Given the description of an element on the screen output the (x, y) to click on. 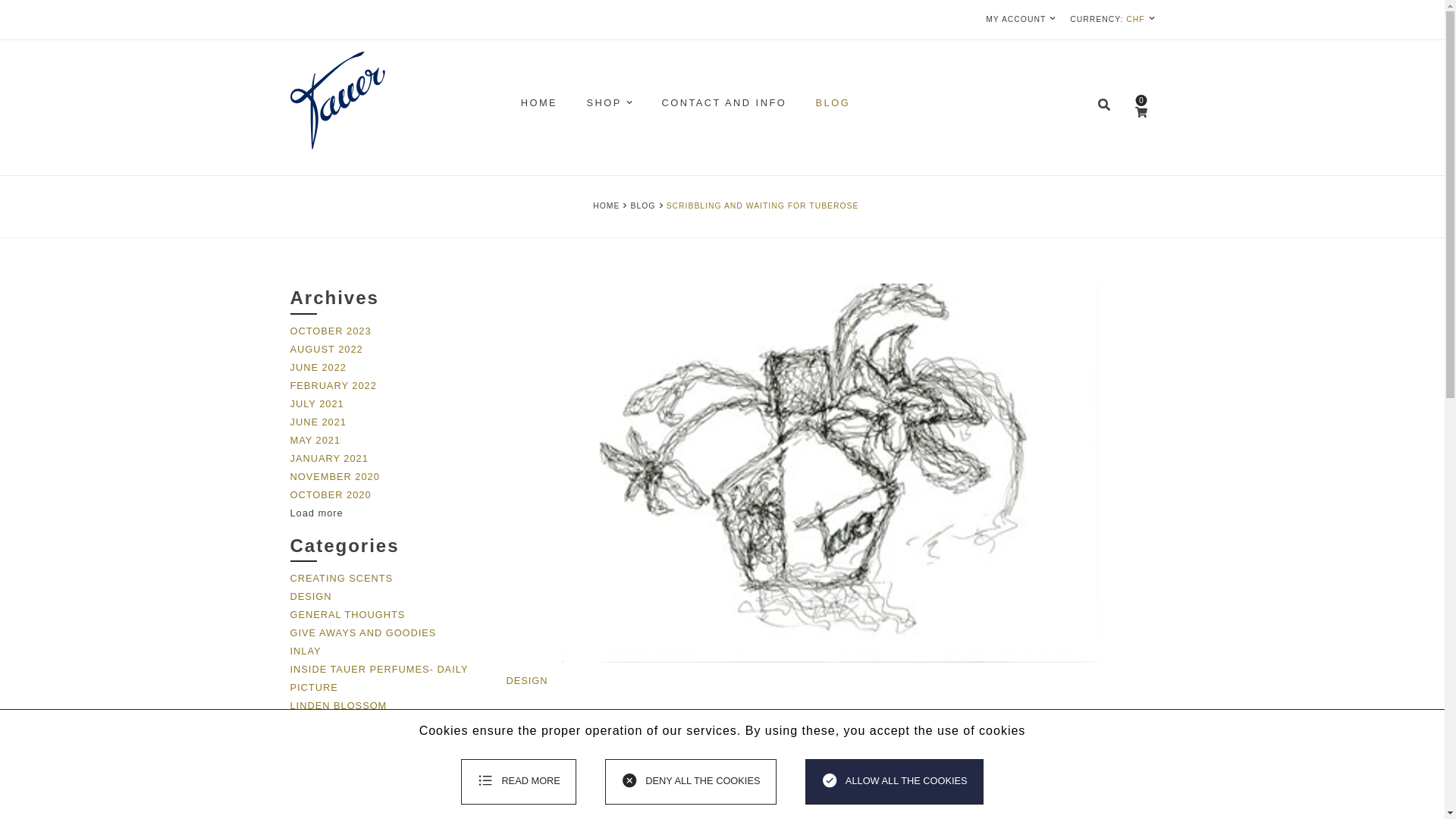
INLAY (304, 650)
CREATING SCENTS (341, 577)
CURRENCY: CHFSHOW DETAILS (1112, 19)
HOME (539, 102)
GIVE AWAYS AND GOODIES (362, 632)
AUGUST 2022 (325, 348)
MAY 2021 (314, 439)
JUNE 2022 (317, 367)
Share on Facebook (580, 790)
SHOPSHOW CHILDREN (609, 102)
DESIGN (527, 680)
FACEBOOK (580, 791)
OCTOBER 2020 (330, 494)
HOME (606, 205)
PENTACHORDS (330, 759)
